Given the description of an element on the screen output the (x, y) to click on. 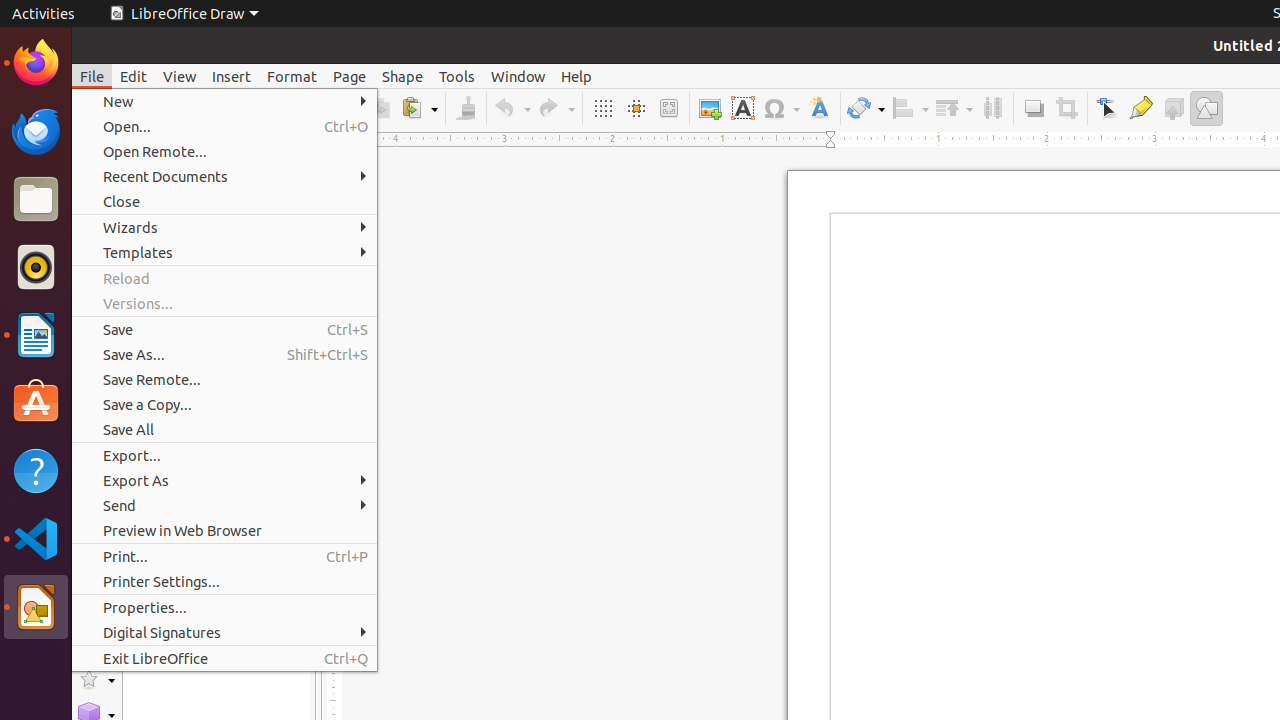
Curves and Polygons Element type: push-button (96, 426)
Lines and Arrows Element type: push-button (96, 391)
Digital Signatures Element type: menu (224, 632)
Versions... Element type: menu-item (224, 303)
Rectangle Element type: push-button (95, 313)
